Given the description of an element on the screen output the (x, y) to click on. 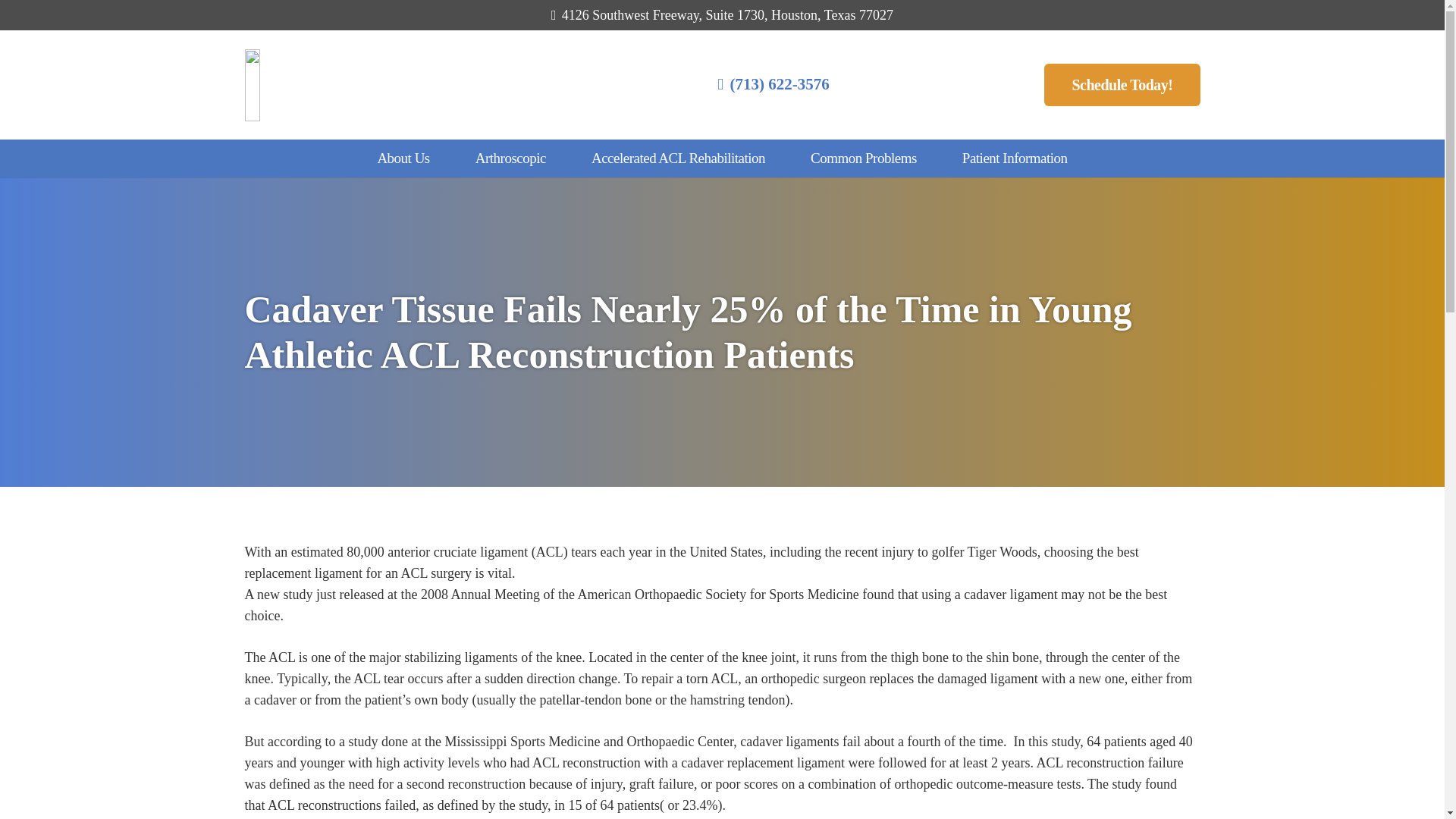
Patient Information (1014, 158)
4126 Southwest Freeway, Suite 1730, Houston, Texas 77027 (722, 14)
Schedule Today! (1121, 84)
Arthroscopic (510, 158)
Accelerated ACL Rehabilitation (678, 158)
Common Problems (863, 158)
About Us (402, 158)
